Given the description of an element on the screen output the (x, y) to click on. 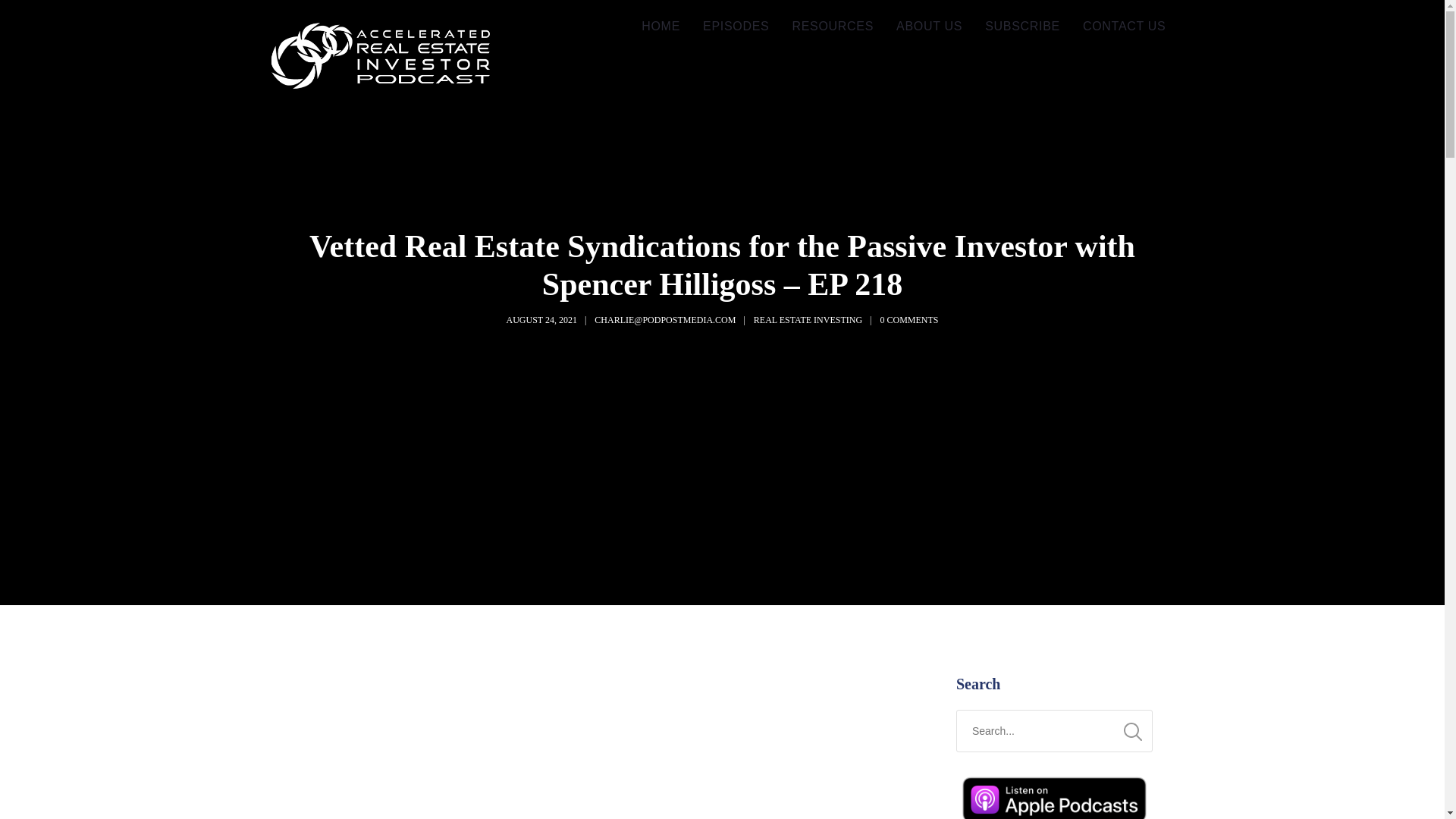
RESOURCES (832, 26)
ABOUT US (929, 26)
0 COMMENTS (908, 319)
HOME (660, 26)
EPISODES (735, 26)
SUBSCRIBE (1022, 26)
CONTACT US (1124, 26)
REAL ESTATE INVESTING (807, 319)
Accelerated Investor Podcast (380, 57)
